Given the description of an element on the screen output the (x, y) to click on. 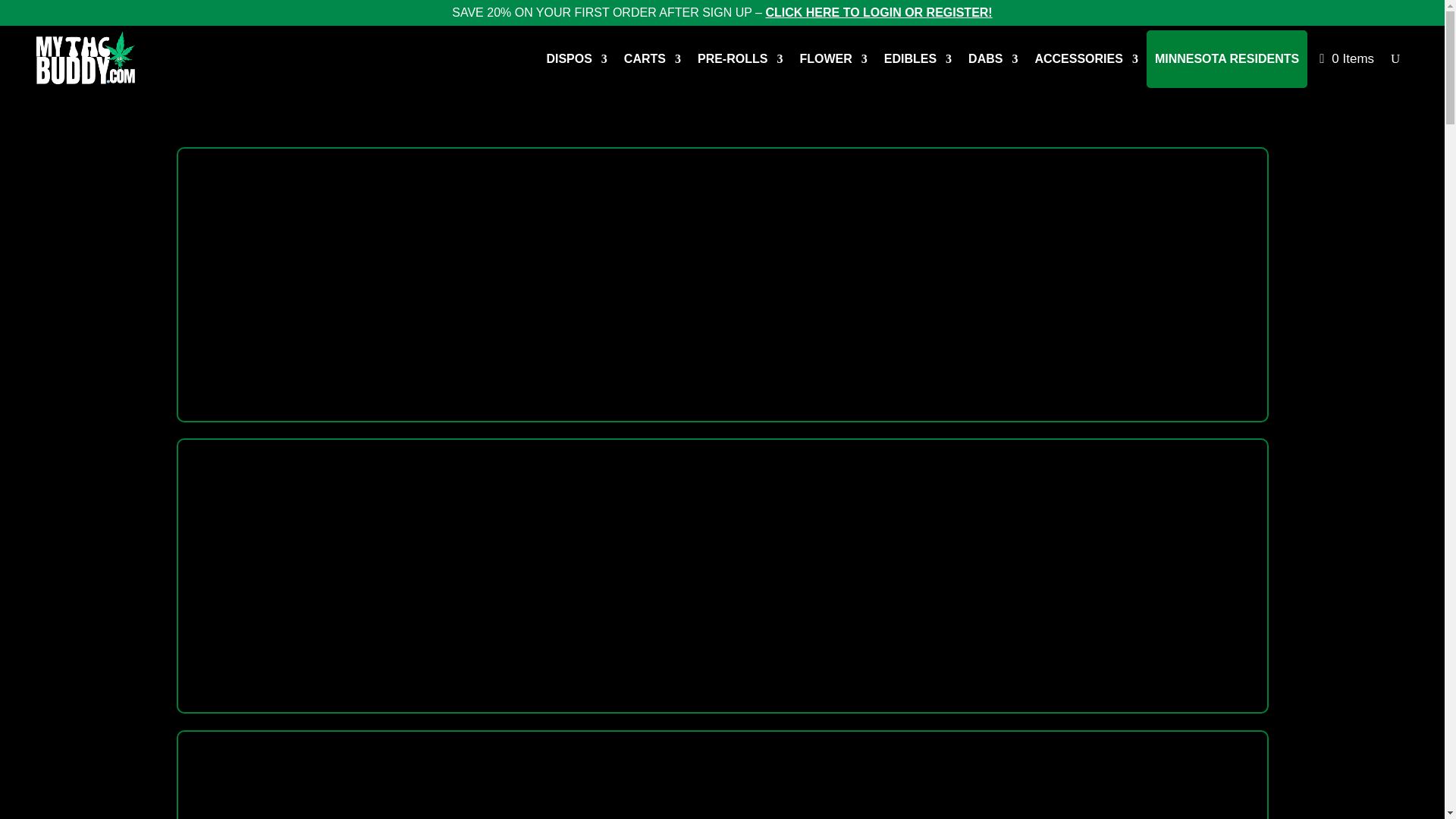
EDIBLES (917, 58)
PRE-ROLLS (740, 58)
CARTS (652, 58)
DABS (992, 58)
CLICK HERE TO LOGIN OR REGISTER! (878, 11)
FLOWER (832, 58)
0 Items (1346, 58)
DISPOS (576, 58)
MINNESOTA RESIDENTS (1226, 58)
dotz (721, 775)
ACCESSORIES (1085, 58)
